Given the description of an element on the screen output the (x, y) to click on. 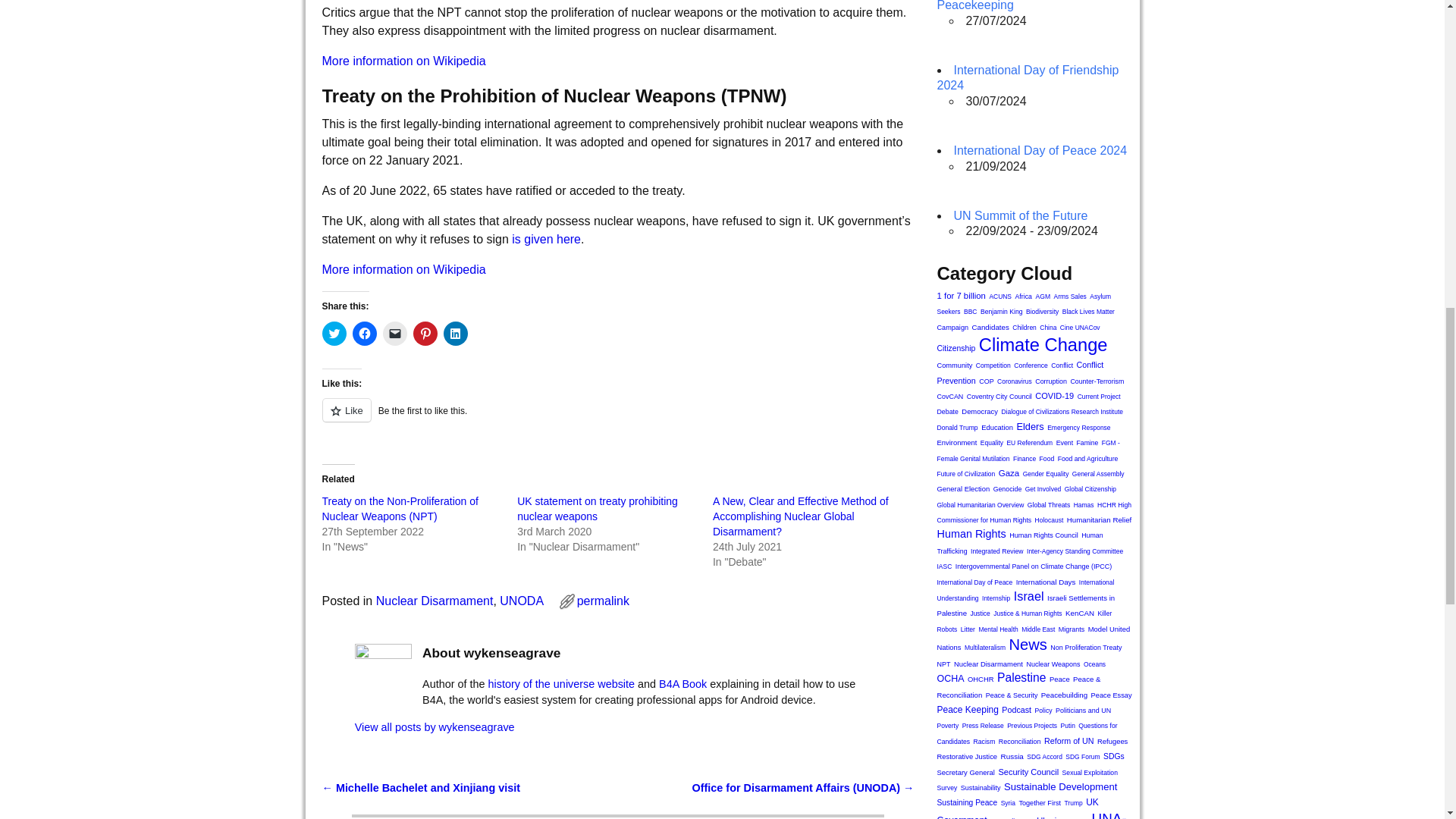
Click to share on Twitter (333, 333)
Click to share on LinkedIn (454, 333)
Click to share on Pinterest (424, 333)
Click to email a link to a friend (393, 333)
28 posts filed under 1 for 7 billion (961, 295)
Like or Reblog (617, 418)
Permalink to Nuclear Weapons Treaties (602, 600)
Click to share on Facebook (363, 333)
UK statement on treaty prohibiting nuclear weapons (597, 508)
